Given the description of an element on the screen output the (x, y) to click on. 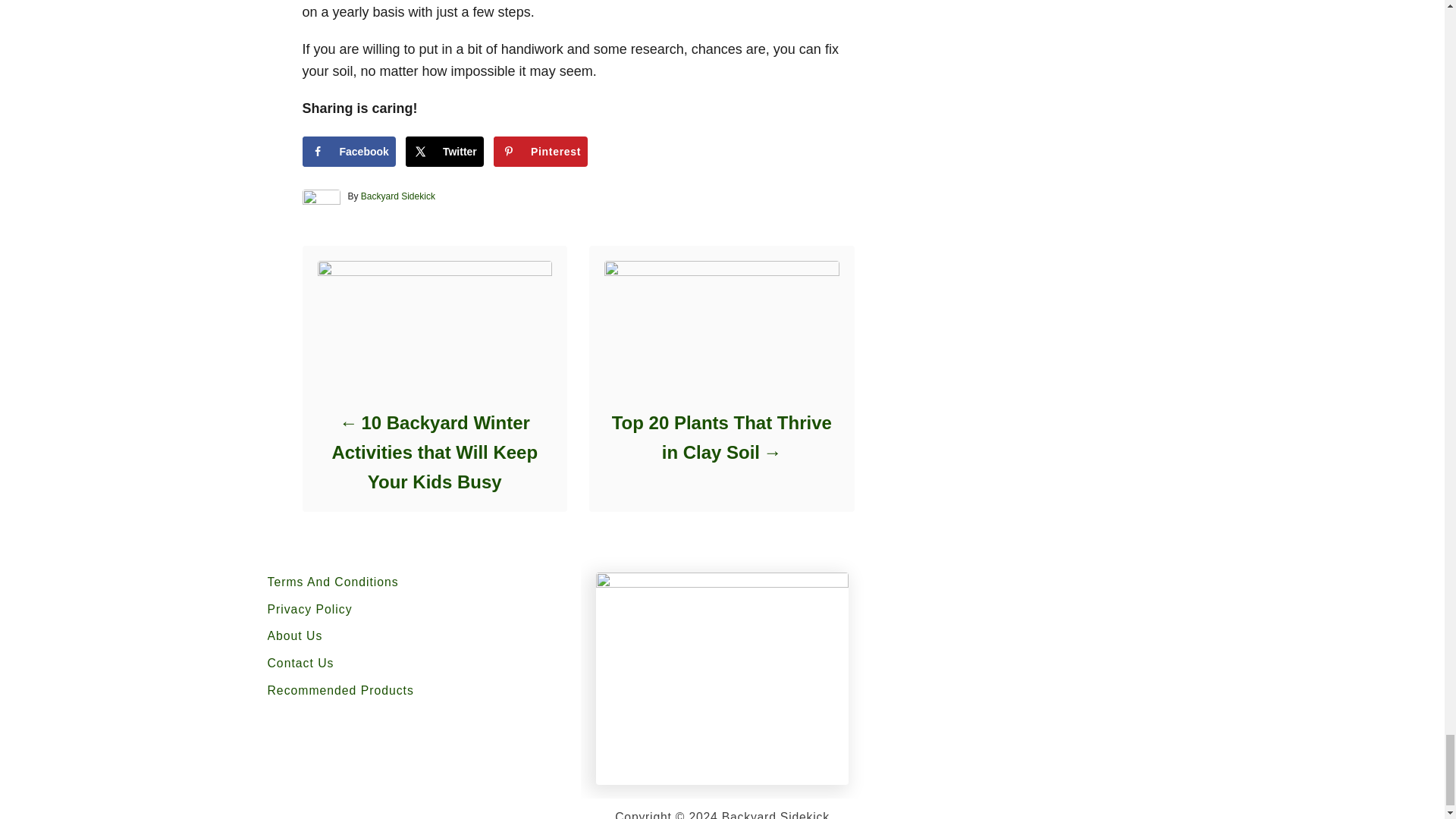
Share on Facebook (347, 151)
Save to Pinterest (540, 151)
Share on X (444, 151)
